Given the description of an element on the screen output the (x, y) to click on. 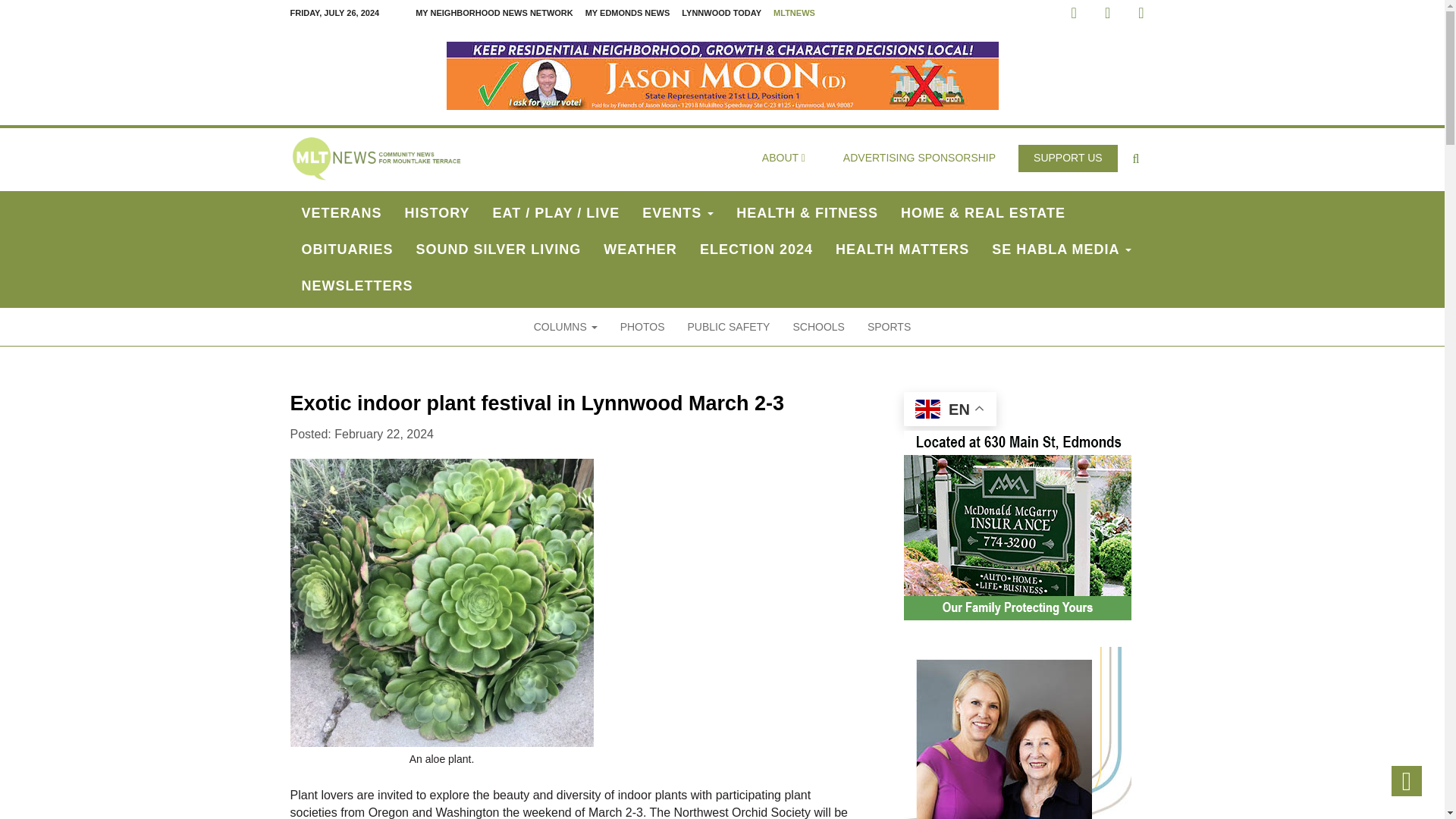
Events (677, 212)
Sound Silver Living (498, 248)
VETERANS (341, 212)
ADVERTISING SPONSORSHIP (919, 157)
Veterans (341, 212)
MY EDMONDS NEWS (628, 13)
SOUND SILVER LIVING (498, 248)
Election 2024 (756, 248)
History (437, 212)
EVENTS (677, 212)
SE HABLA MEDIA (1060, 248)
MY NEIGHBORHOOD NEWS NETWORK (494, 13)
WEATHER (640, 248)
ELECTION 2024 (756, 248)
OBITUARIES (346, 248)
